Given the description of an element on the screen output the (x, y) to click on. 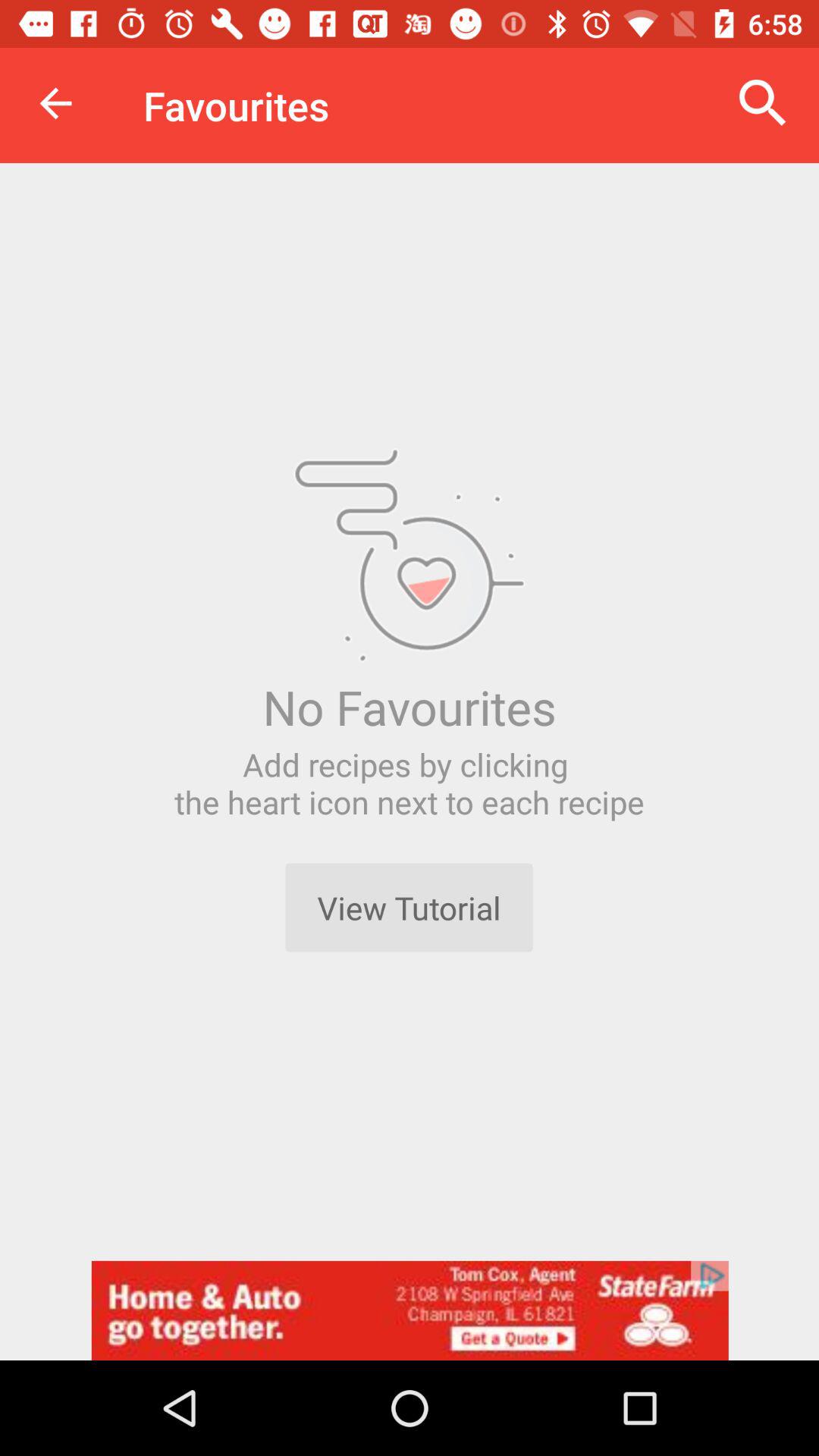
advert pop up (409, 1310)
